Given the description of an element on the screen output the (x, y) to click on. 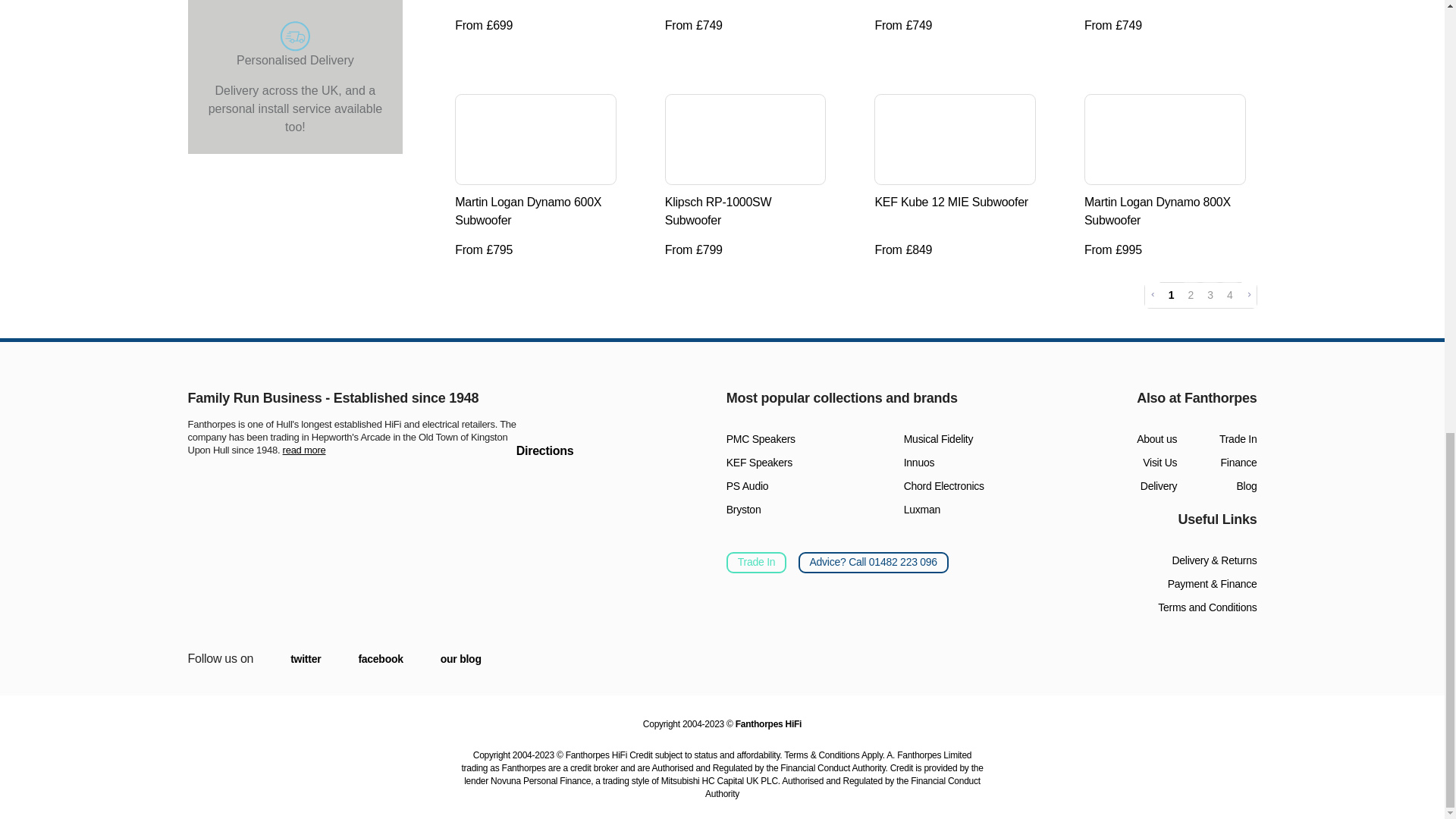
Klipsch RP-1000SW Subwoofer (718, 210)
Martin Logan Dynamo 600X Subwoofer (527, 210)
Klipsch RP-1000SW Subwoofer (745, 137)
Martin Logan Dynamo 600X Subwoofer (535, 137)
